Given the description of an element on the screen output the (x, y) to click on. 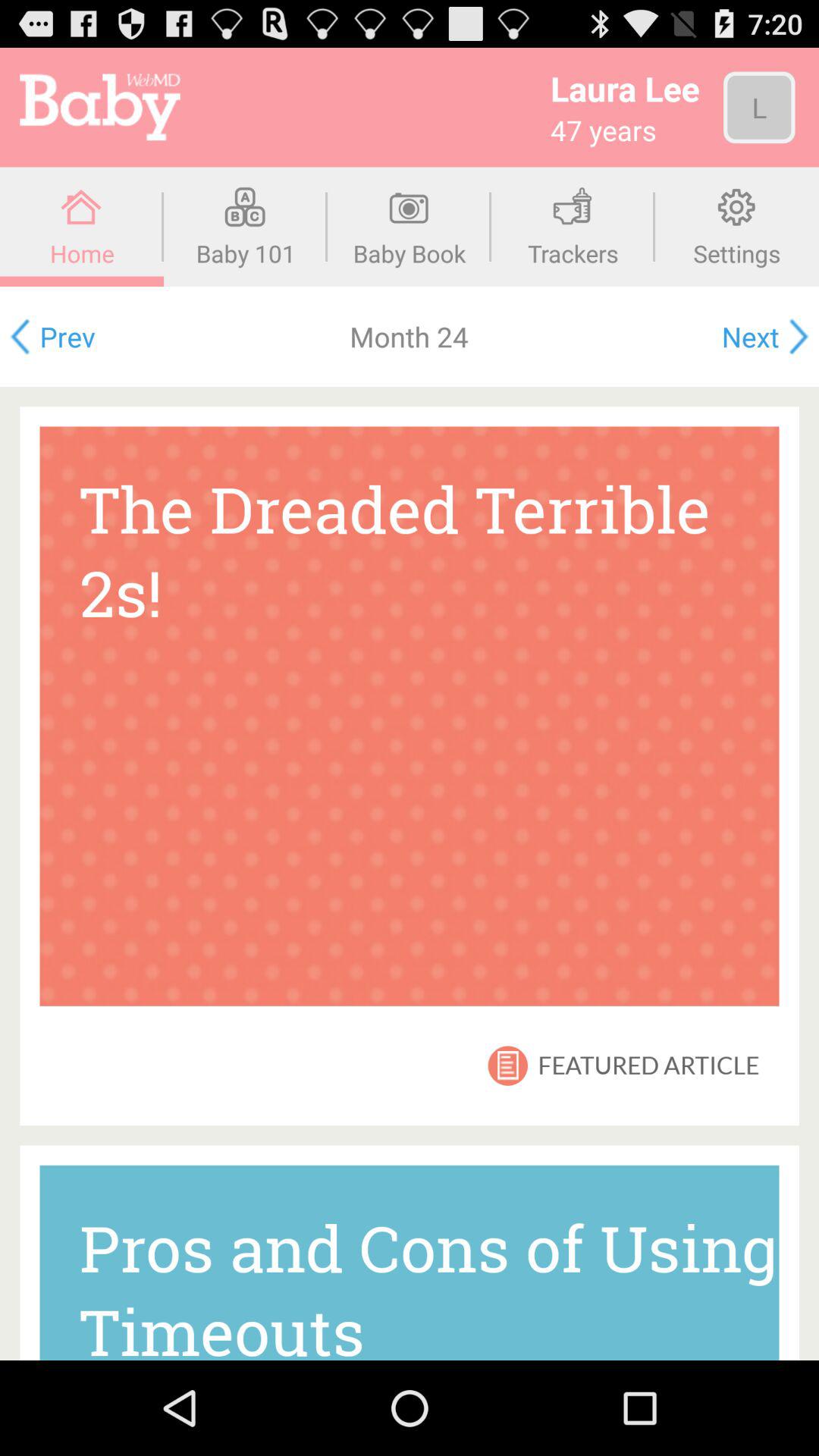
swipe until featured article icon (648, 1065)
